Given the description of an element on the screen output the (x, y) to click on. 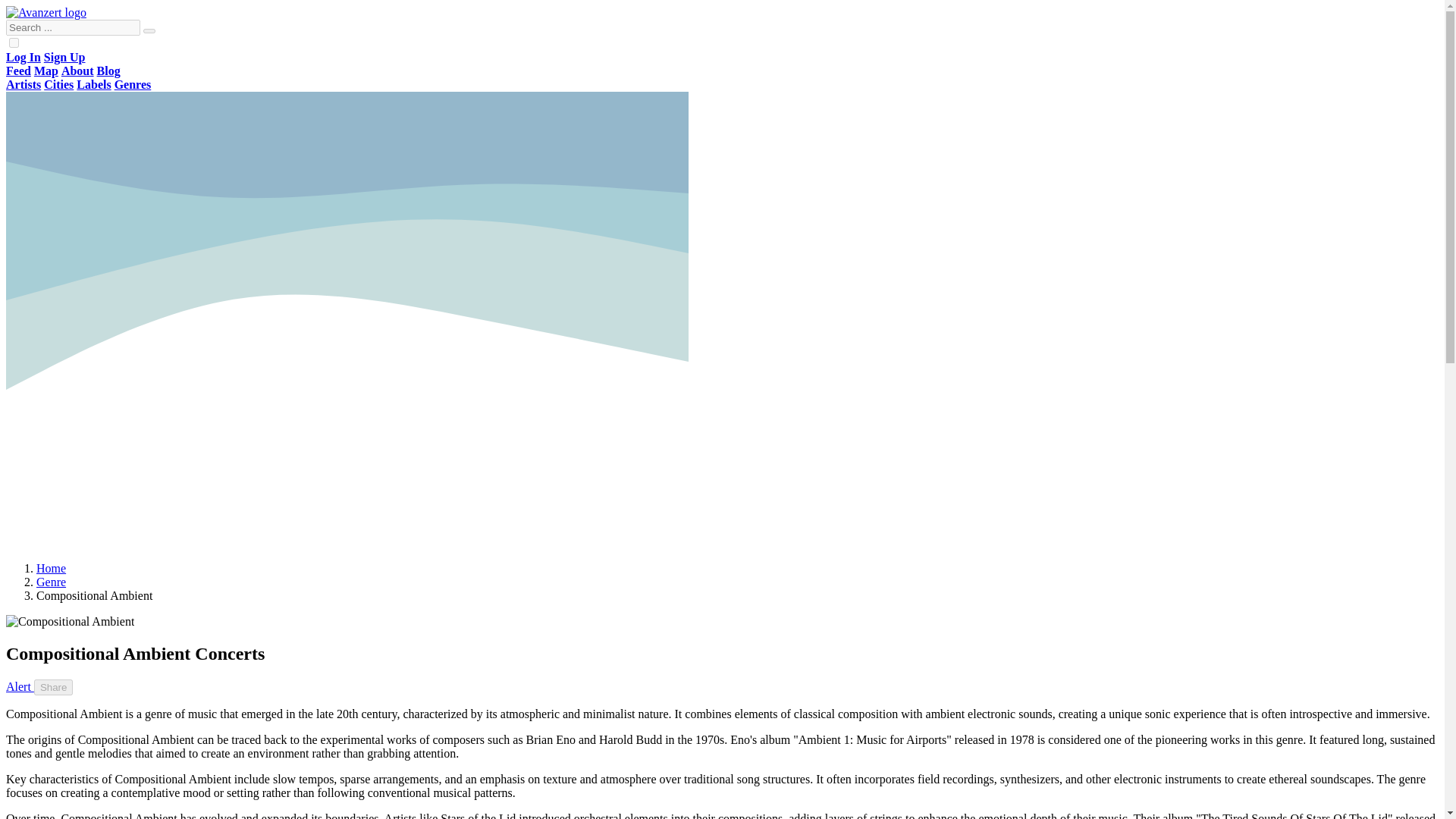
Alert (19, 686)
Artists (22, 83)
Genre (50, 581)
Log In (22, 56)
Cities (58, 83)
on (13, 42)
Share (53, 687)
Labels (93, 83)
Feed (17, 70)
Home (50, 567)
